Given the description of an element on the screen output the (x, y) to click on. 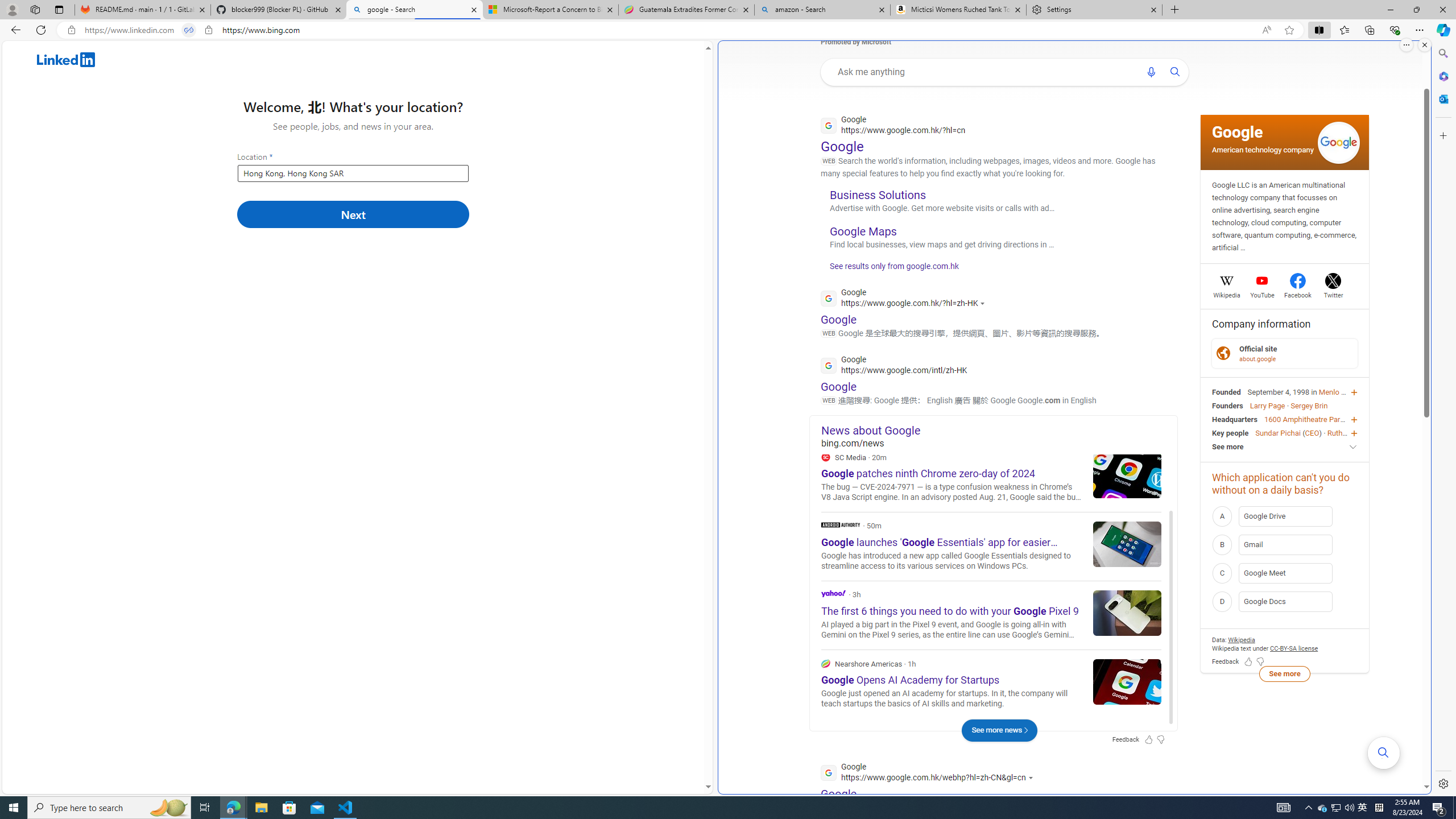
American technology company (1262, 148)
Founded (1225, 391)
Nearshore Americas (825, 663)
Ask me anything (984, 71)
News about Google (999, 429)
Ruth Porat (1344, 432)
Larry Page (1267, 405)
Google (1237, 131)
Official siteabout.google (1283, 352)
